Given the description of an element on the screen output the (x, y) to click on. 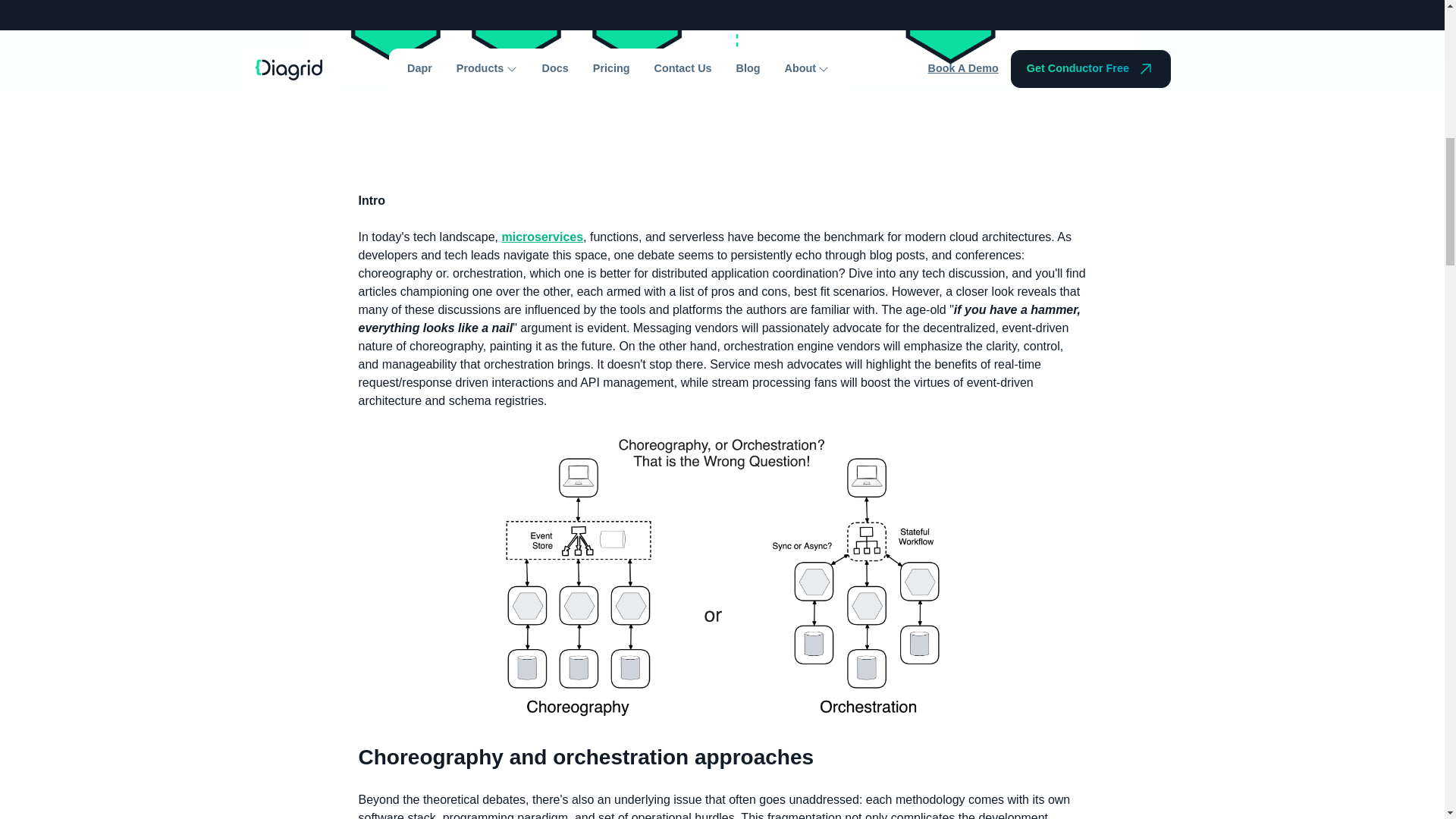
microservices (541, 236)
